Given the description of an element on the screen output the (x, y) to click on. 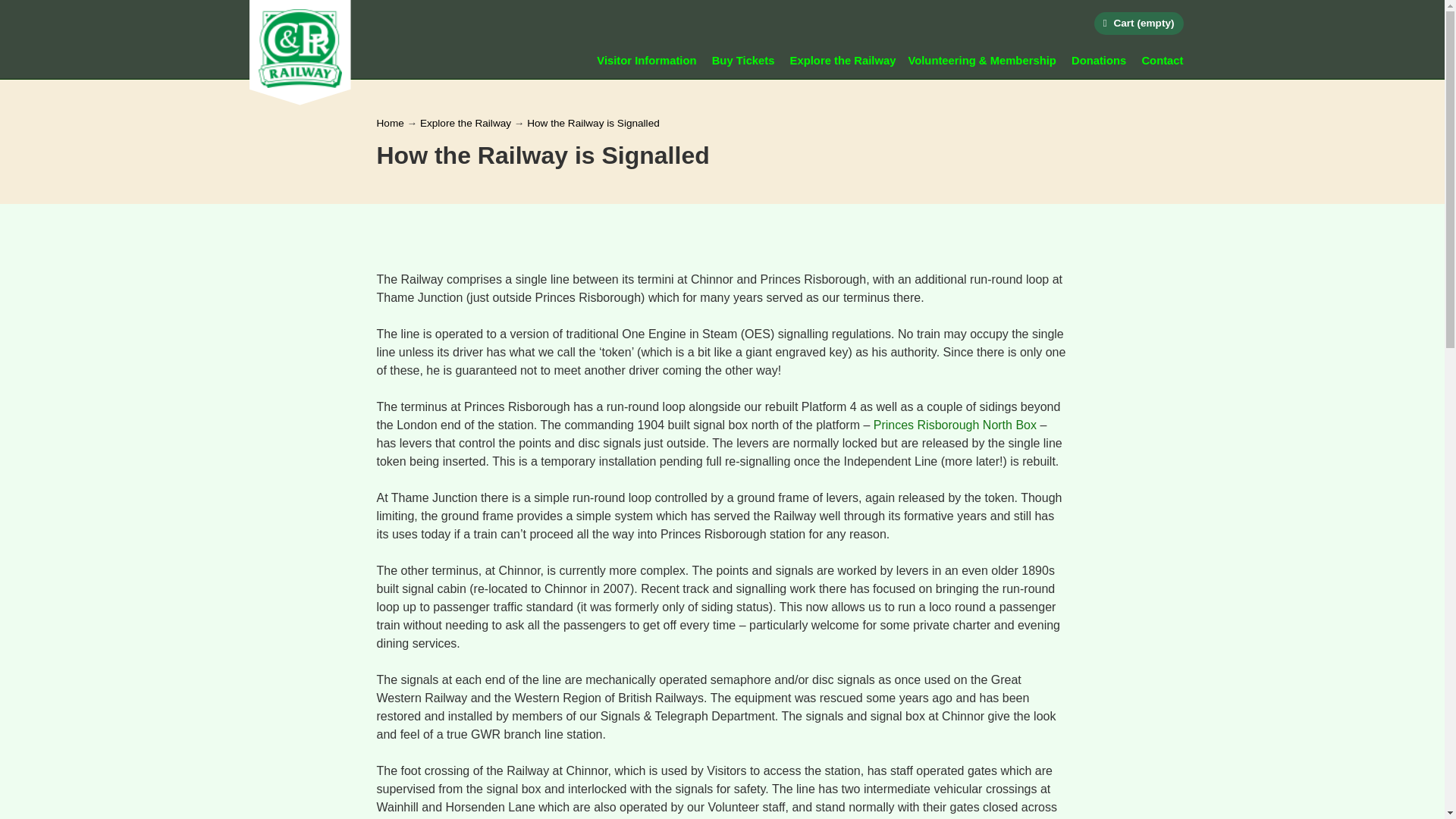
Buy Tickets (743, 60)
Princes Risborough North Signal Box (954, 424)
Explore the Railway (843, 60)
Visitor Information (646, 60)
